Given the description of an element on the screen output the (x, y) to click on. 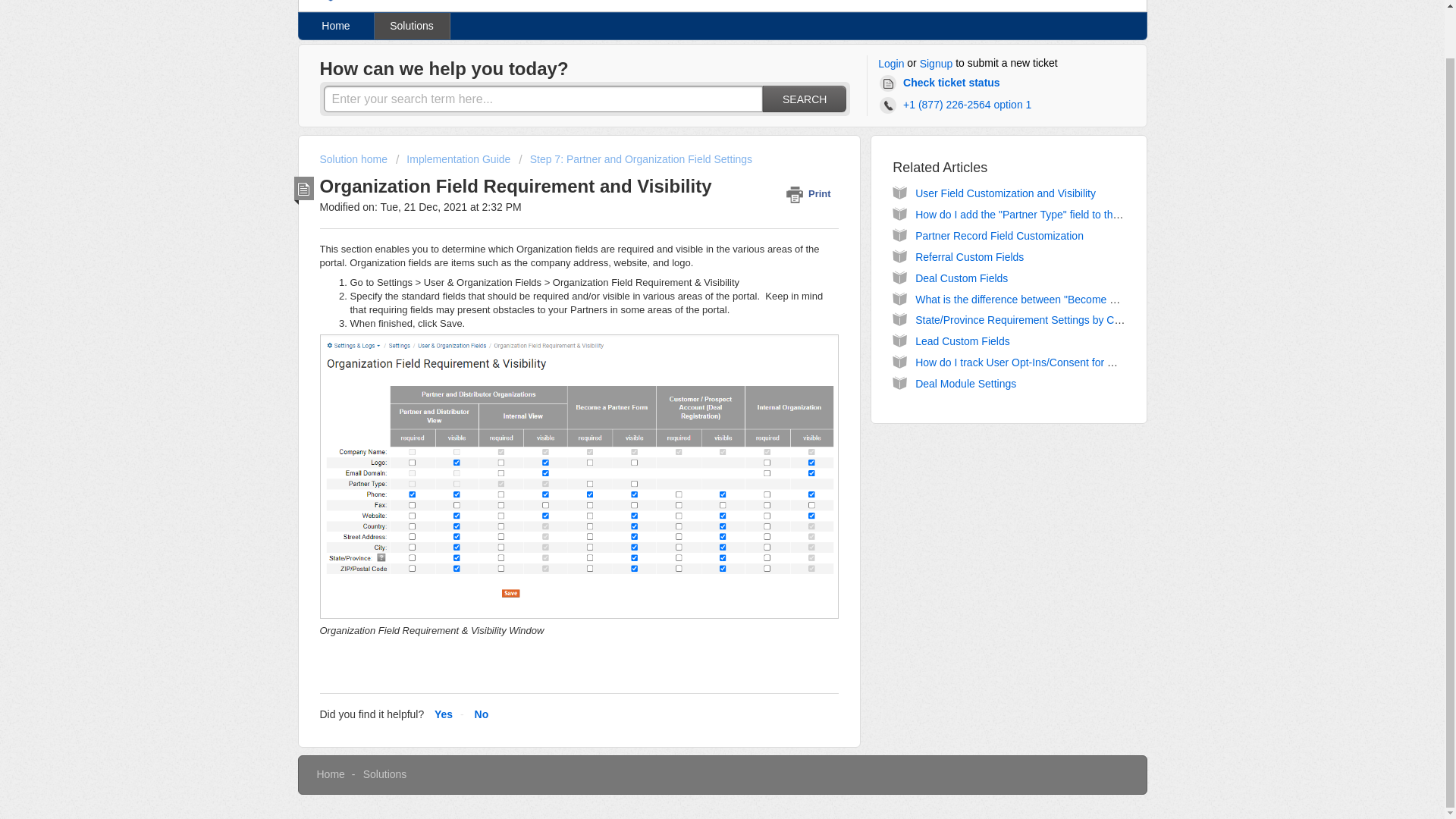
Solution home (355, 159)
Print (812, 193)
Implementation Guide (454, 159)
Lead Custom Fields (962, 340)
Print this Article (812, 193)
Home (336, 26)
Login (890, 64)
Solutions (411, 26)
Signup (936, 64)
Check ticket status (941, 83)
SEARCH (803, 98)
Home (331, 774)
Deal Module Settings (965, 383)
